Given the description of an element on the screen output the (x, y) to click on. 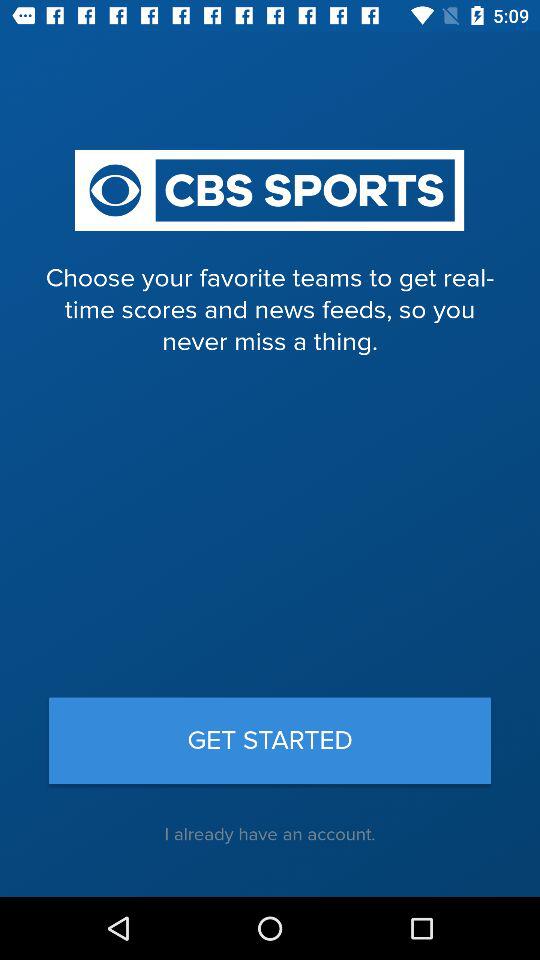
click get started item (269, 740)
